Given the description of an element on the screen output the (x, y) to click on. 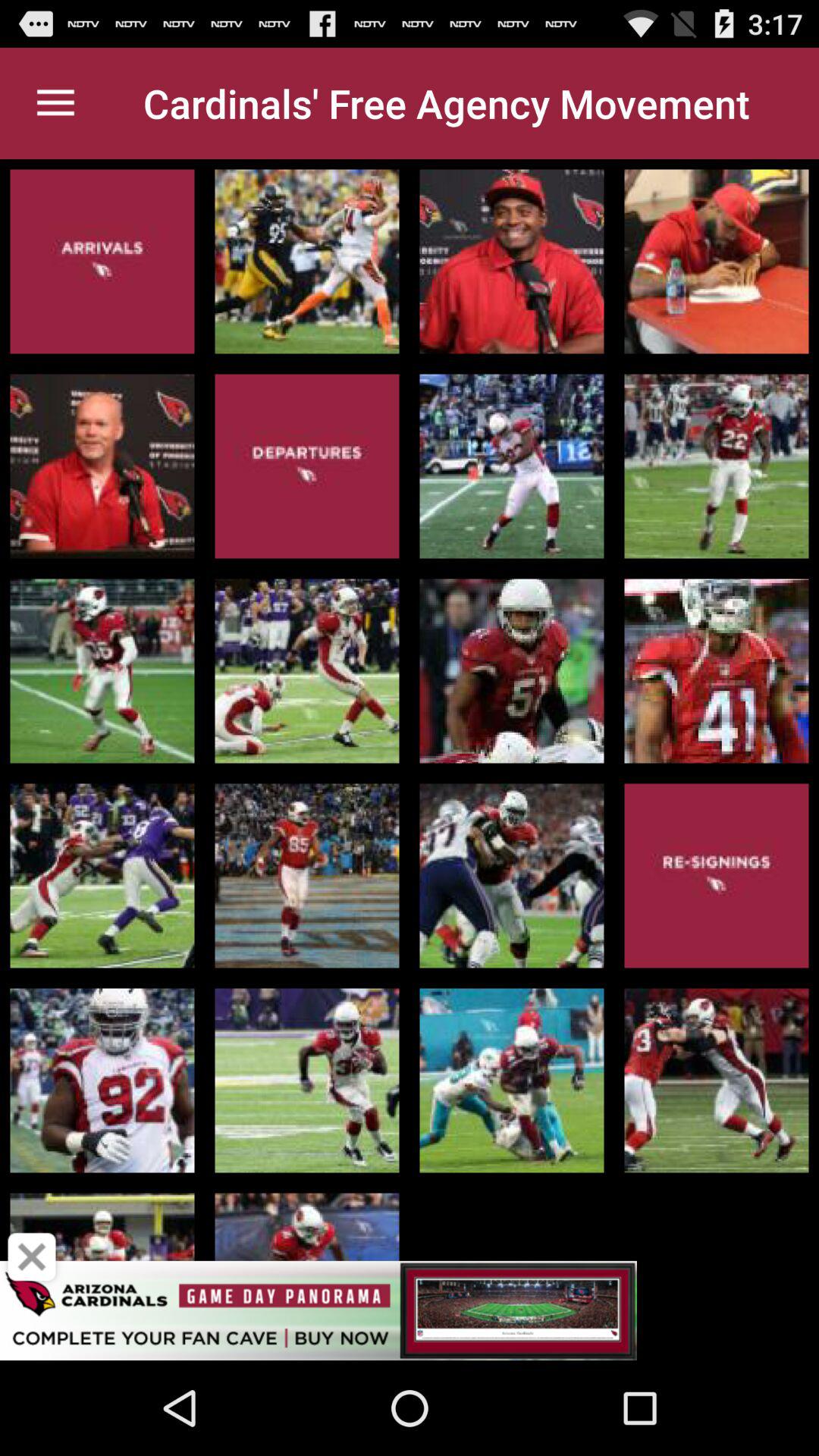
open advertisement (409, 1310)
